Given the description of an element on the screen output the (x, y) to click on. 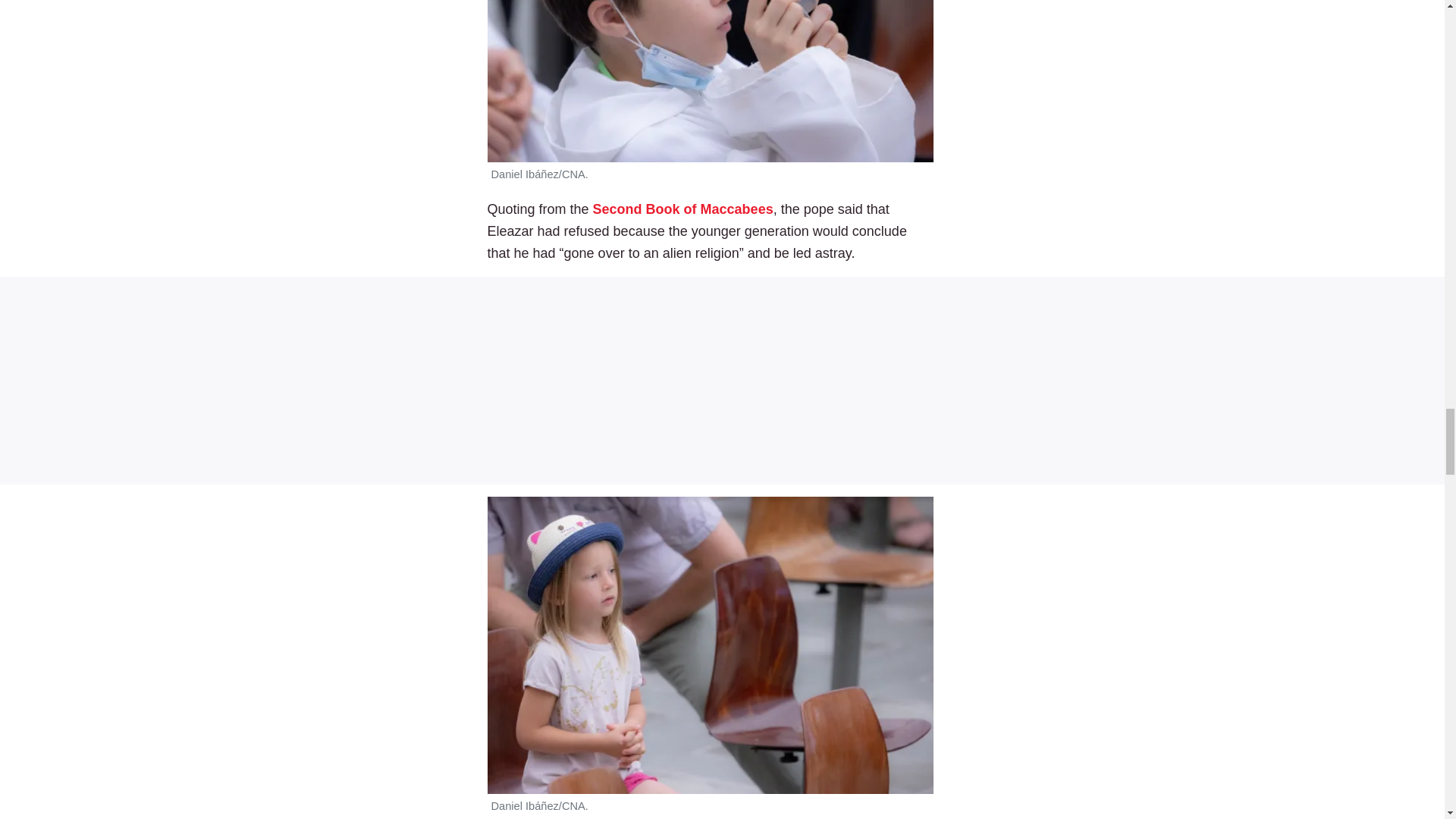
3rd party ad content (721, 380)
